Given the description of an element on the screen output the (x, y) to click on. 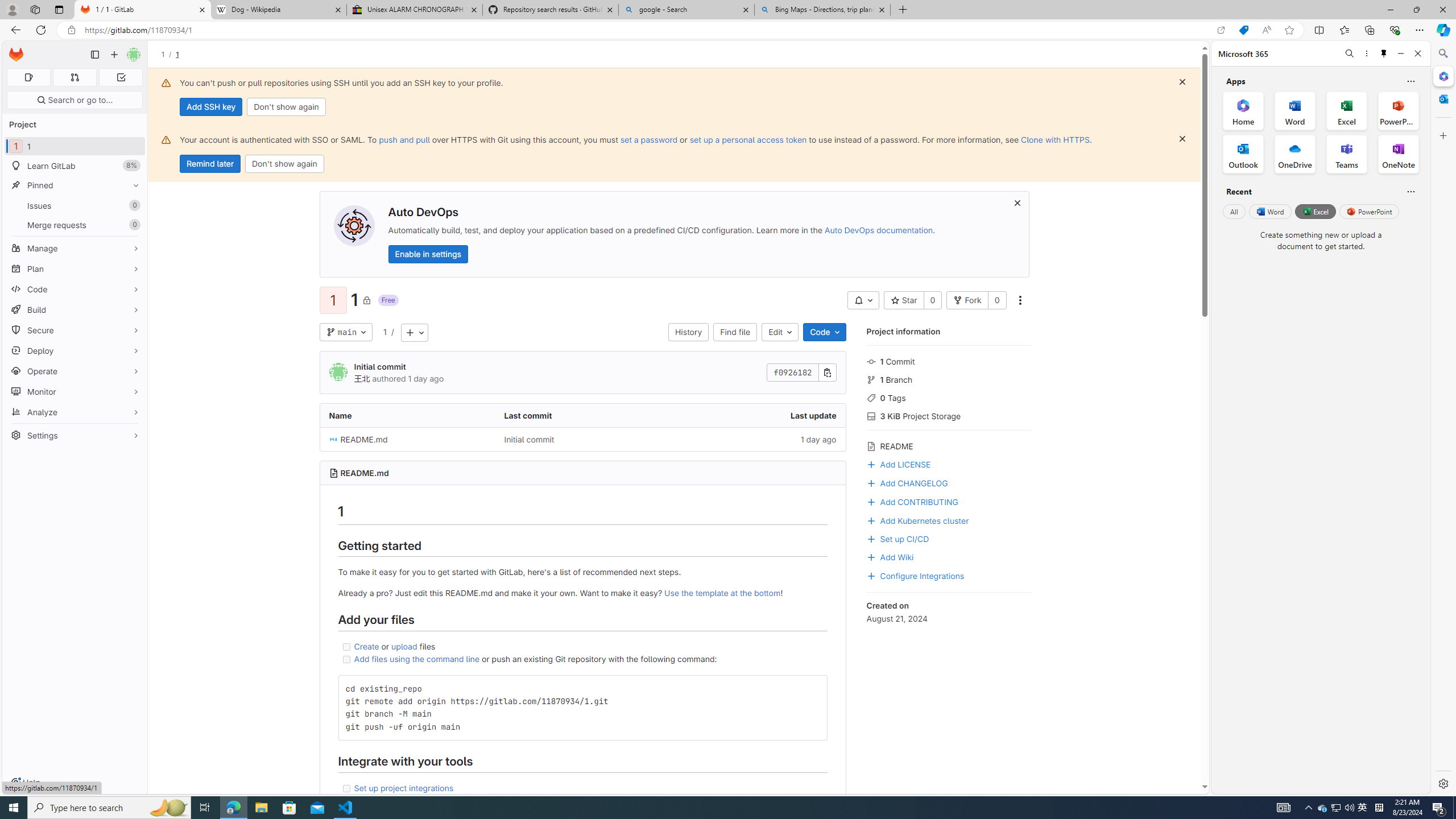
Code (74, 289)
README (948, 444)
1 Commit (948, 360)
1/ (168, 53)
Deploy (74, 350)
Last update (757, 415)
Assigned issues 0 (28, 76)
Class: s16 icon (366, 299)
Copy commit SHA (827, 372)
Class: btn btn-default btn-md gl-button btn-icon has-tooltip (813, 687)
Class: s16 icon gl-mr-3 gl-text-gray-500 (871, 446)
OneDrive Office App (1295, 154)
Monitor (74, 391)
